Given the description of an element on the screen output the (x, y) to click on. 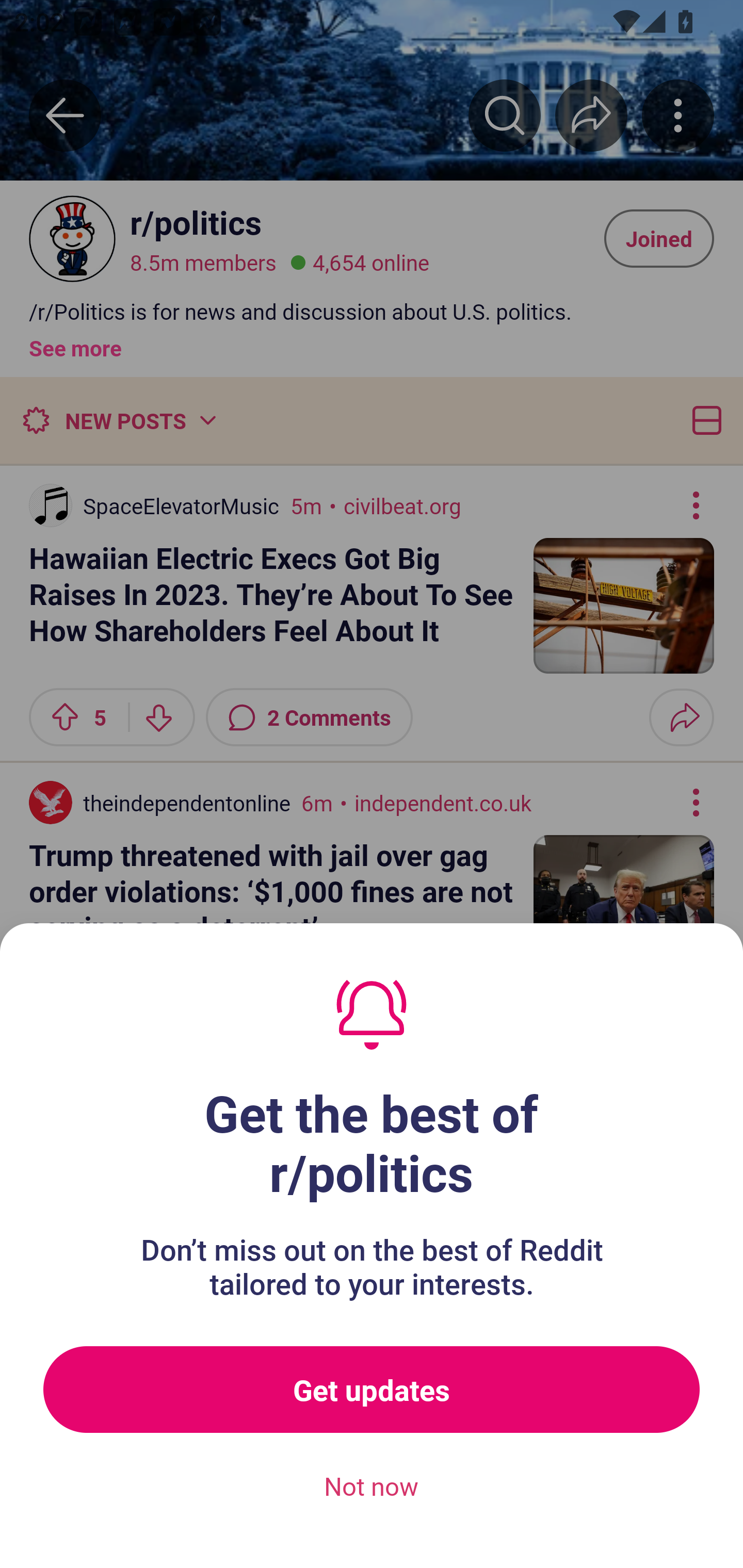
Get updates (371, 1389)
Not now (371, 1486)
